Given the description of an element on the screen output the (x, y) to click on. 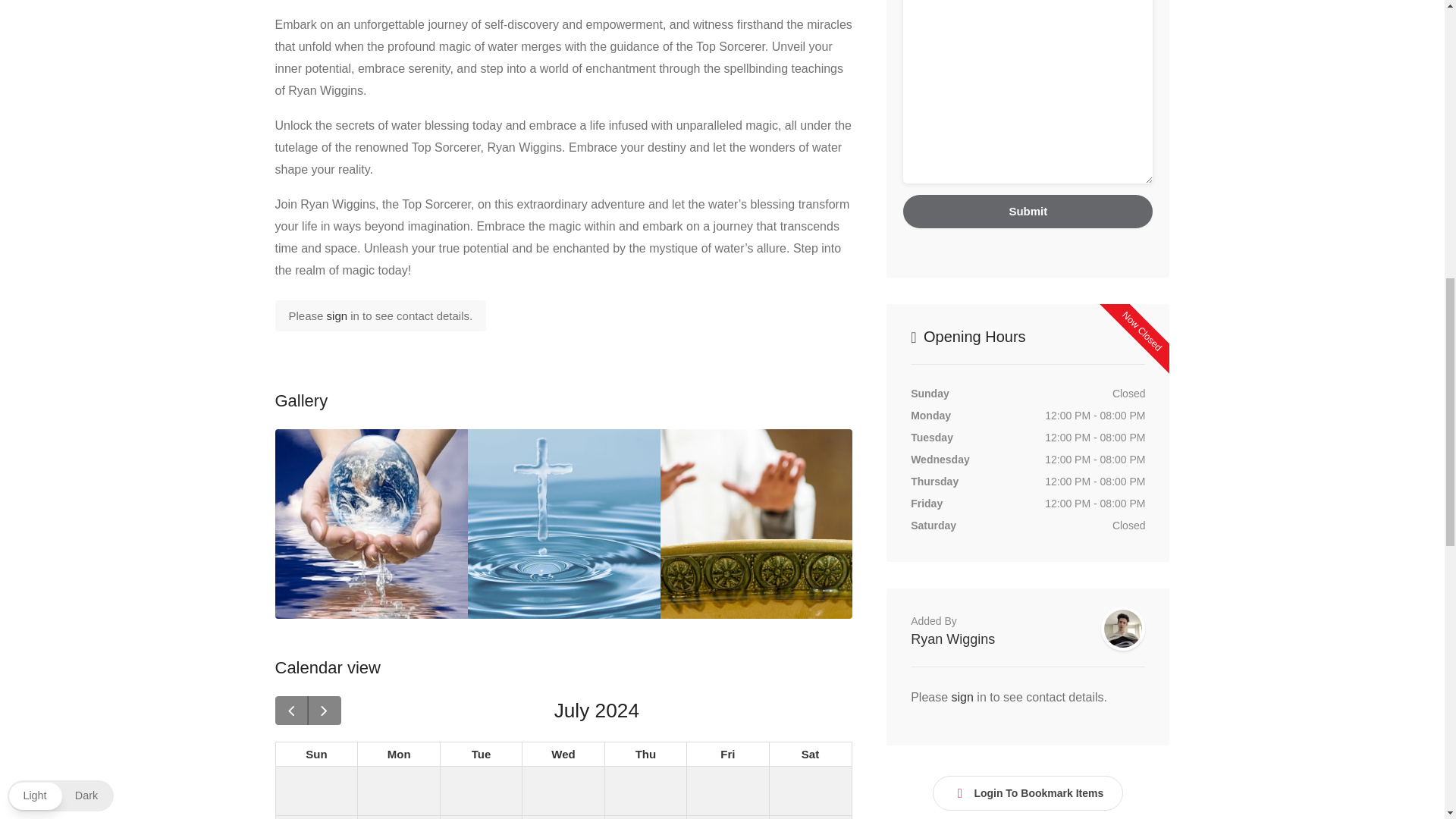
Fri (564, 754)
Next month (727, 753)
Tue (323, 709)
Mon (481, 753)
Thu (398, 753)
Tue (645, 753)
Sat (481, 753)
Sat (810, 753)
Mon (809, 753)
Wed (398, 753)
sign (563, 753)
